Given the description of an element on the screen output the (x, y) to click on. 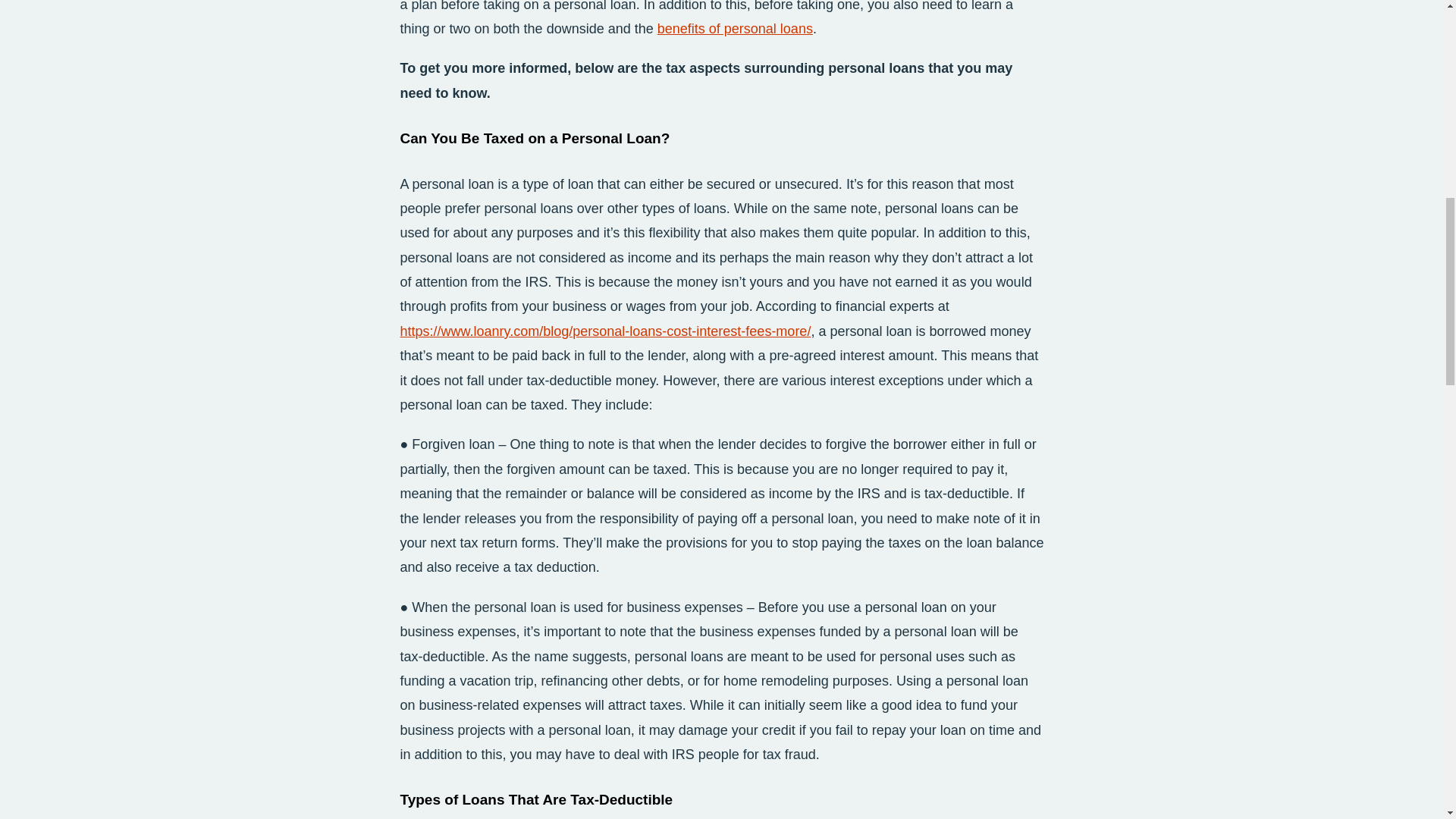
benefits of personal loans (735, 28)
